Given the description of an element on the screen output the (x, y) to click on. 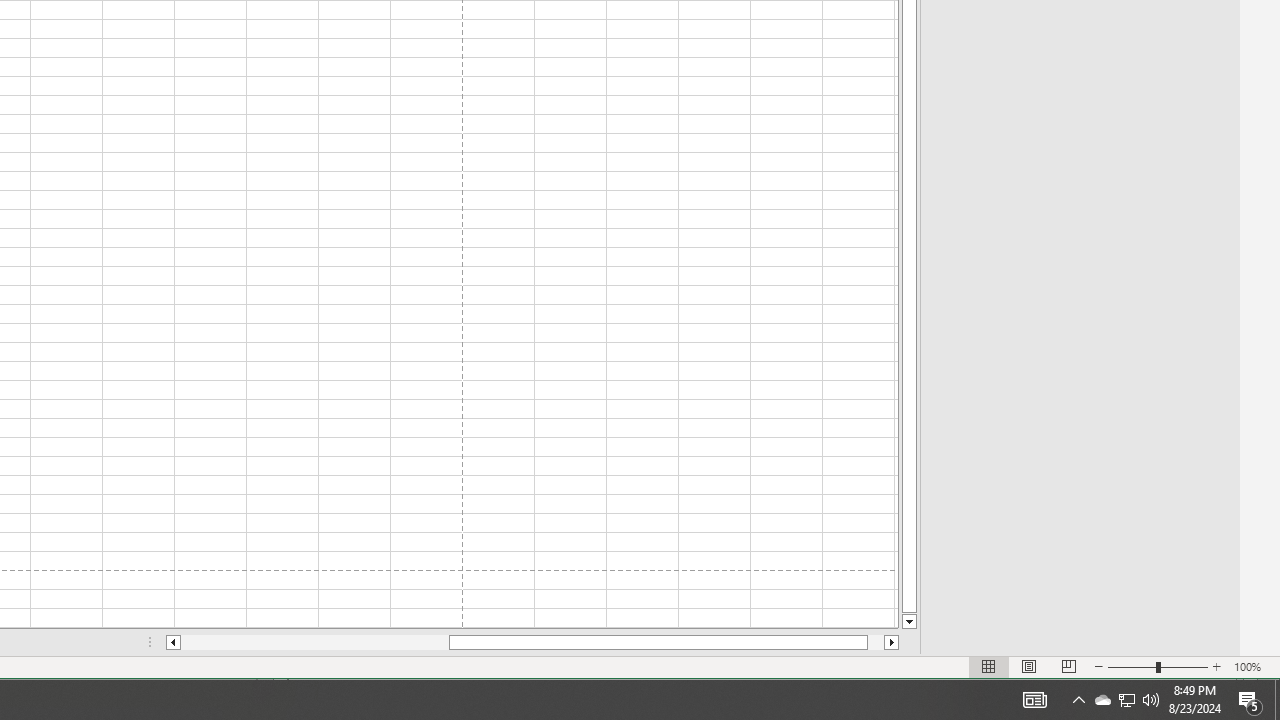
Page left (314, 642)
Show desktop (1277, 699)
Q2790: 100% (1151, 699)
User Promoted Notification Area (1126, 699)
